Given the description of an element on the screen output the (x, y) to click on. 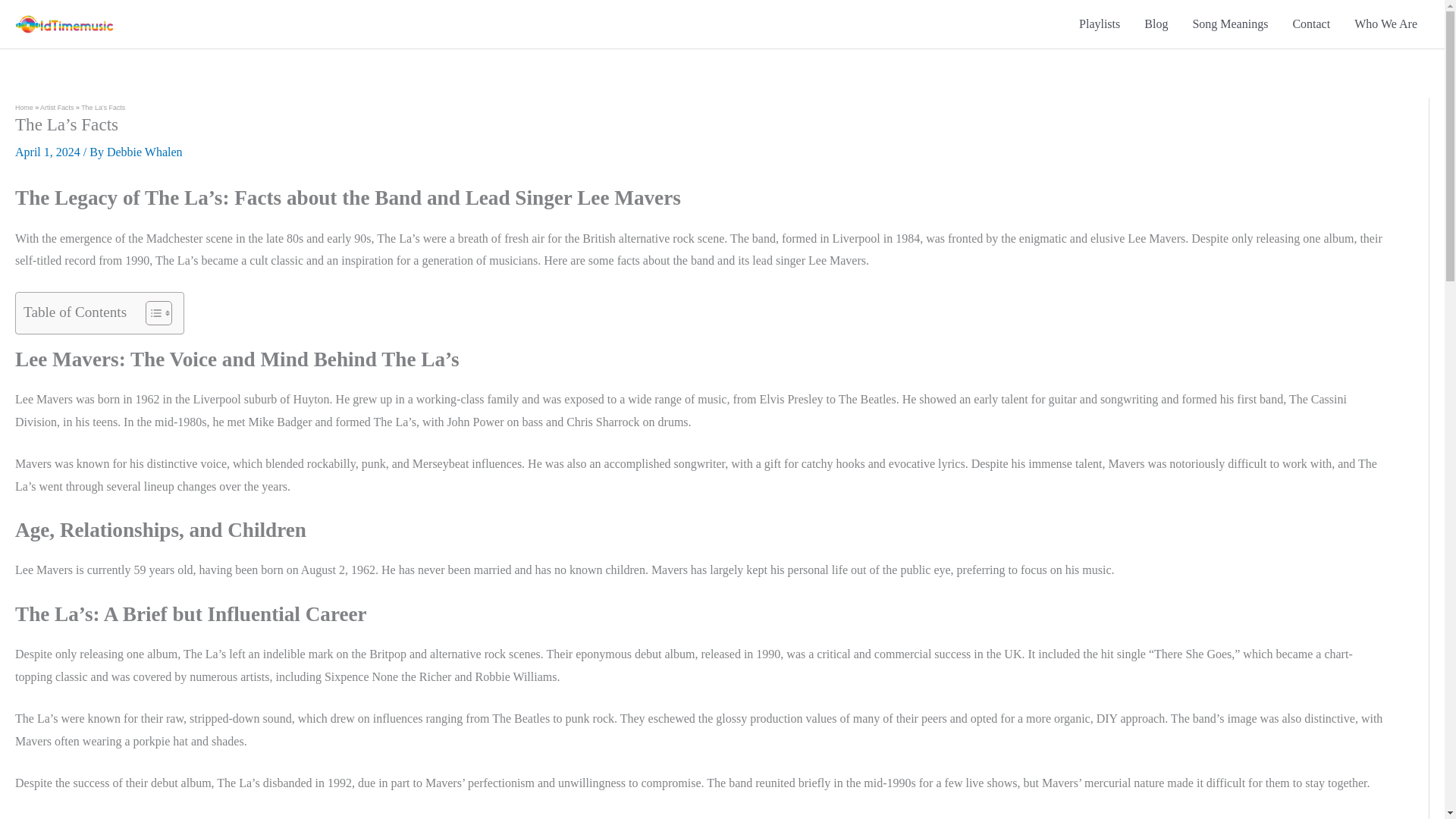
Blog (1155, 24)
Debbie Whalen (144, 151)
Home (23, 107)
Who We Are (1385, 24)
View all posts by Debbie Whalen (144, 151)
Playlists (1099, 24)
Artist Facts (57, 107)
Contact (1310, 24)
Song Meanings (1229, 24)
